Given the description of an element on the screen output the (x, y) to click on. 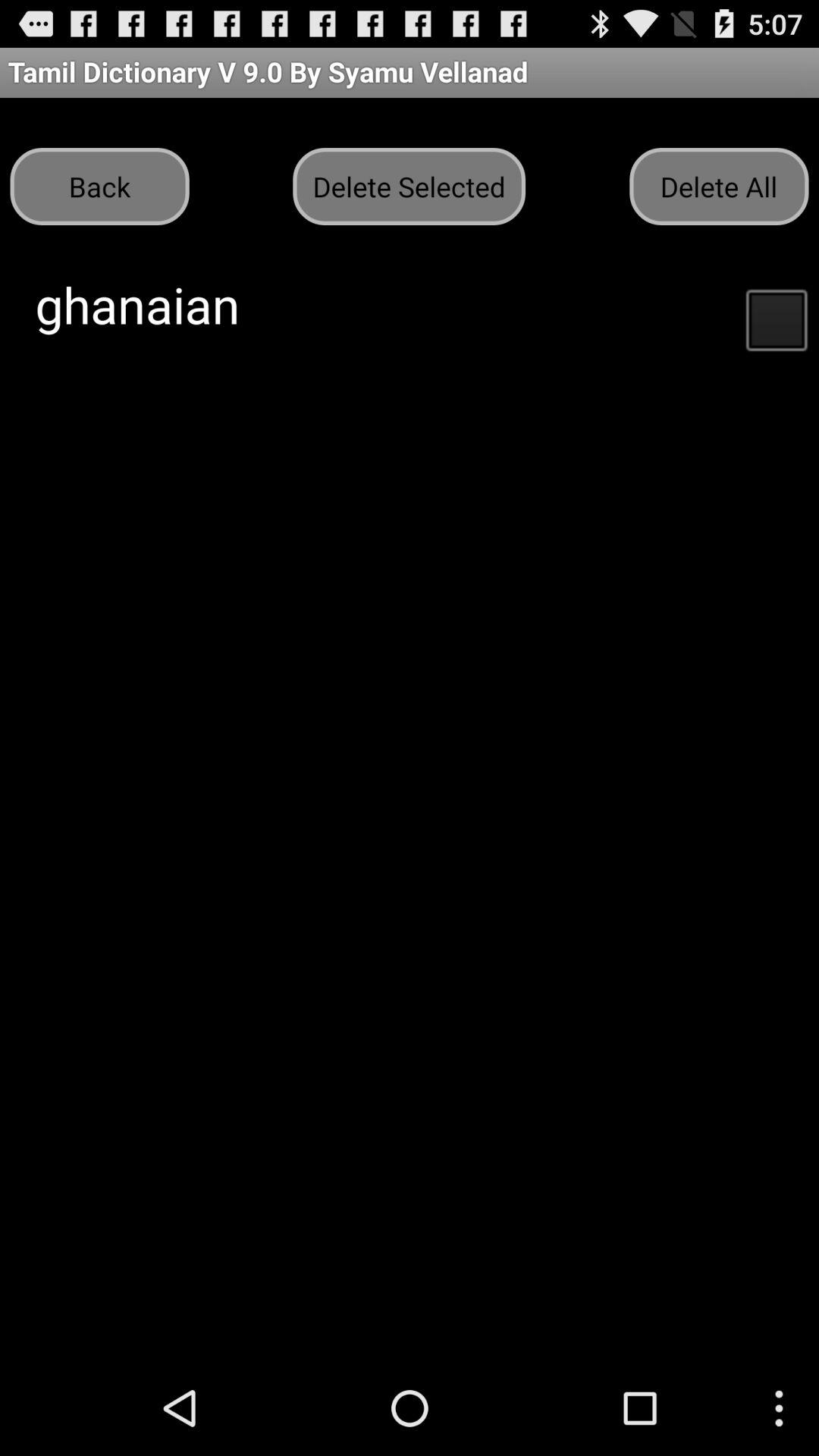
press the button to the right of the delete selected icon (718, 186)
